Given the description of an element on the screen output the (x, y) to click on. 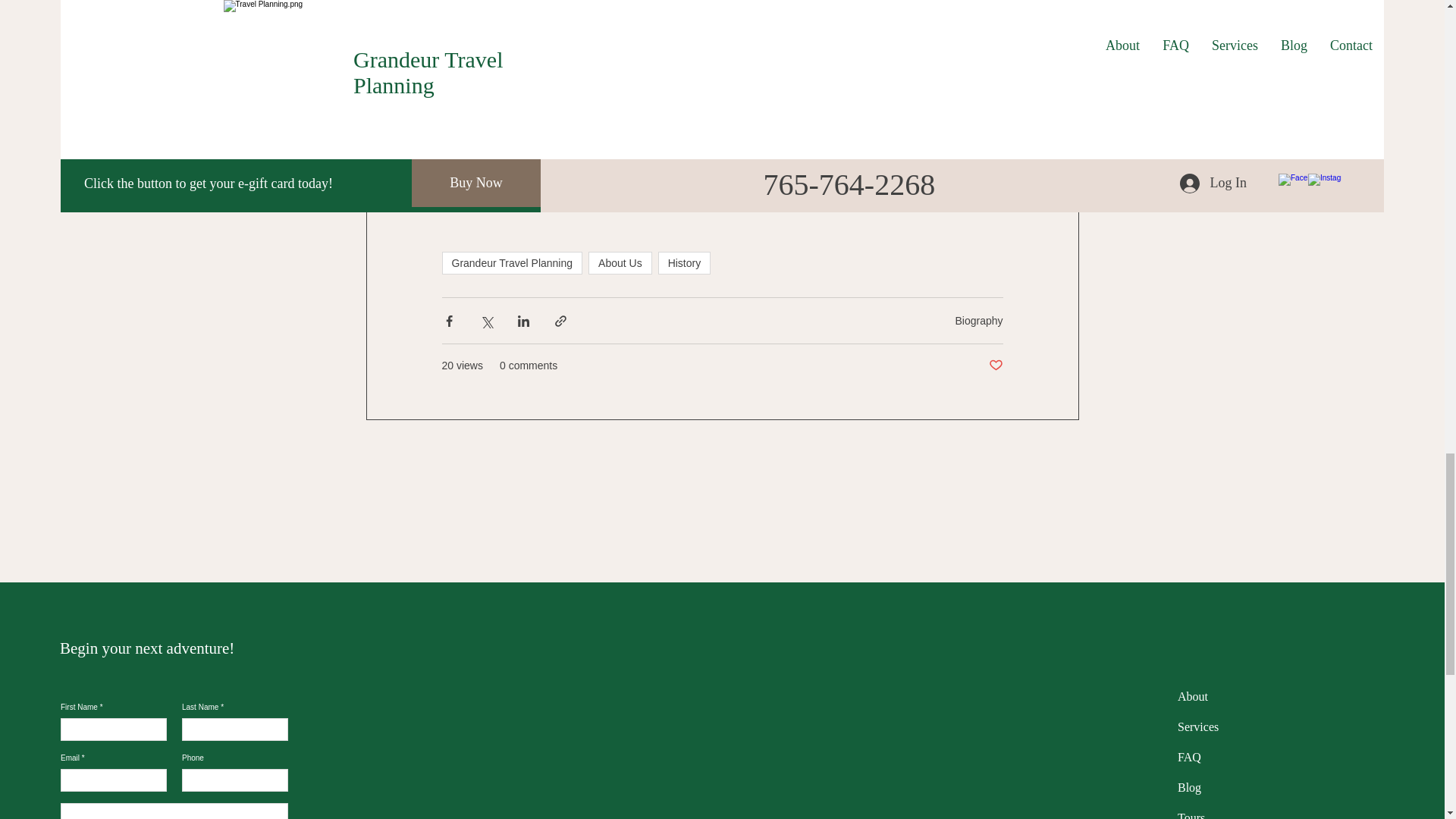
About (1192, 696)
Biography (979, 319)
About Us (620, 262)
www.grandeurtravelplanning.com (534, 165)
Post not marked as liked (995, 365)
FAQ (1189, 757)
Grandeur Travel Planning (511, 262)
History (684, 262)
Services (1197, 726)
Blog (1189, 787)
Tours (1191, 815)
